Given the description of an element on the screen output the (x, y) to click on. 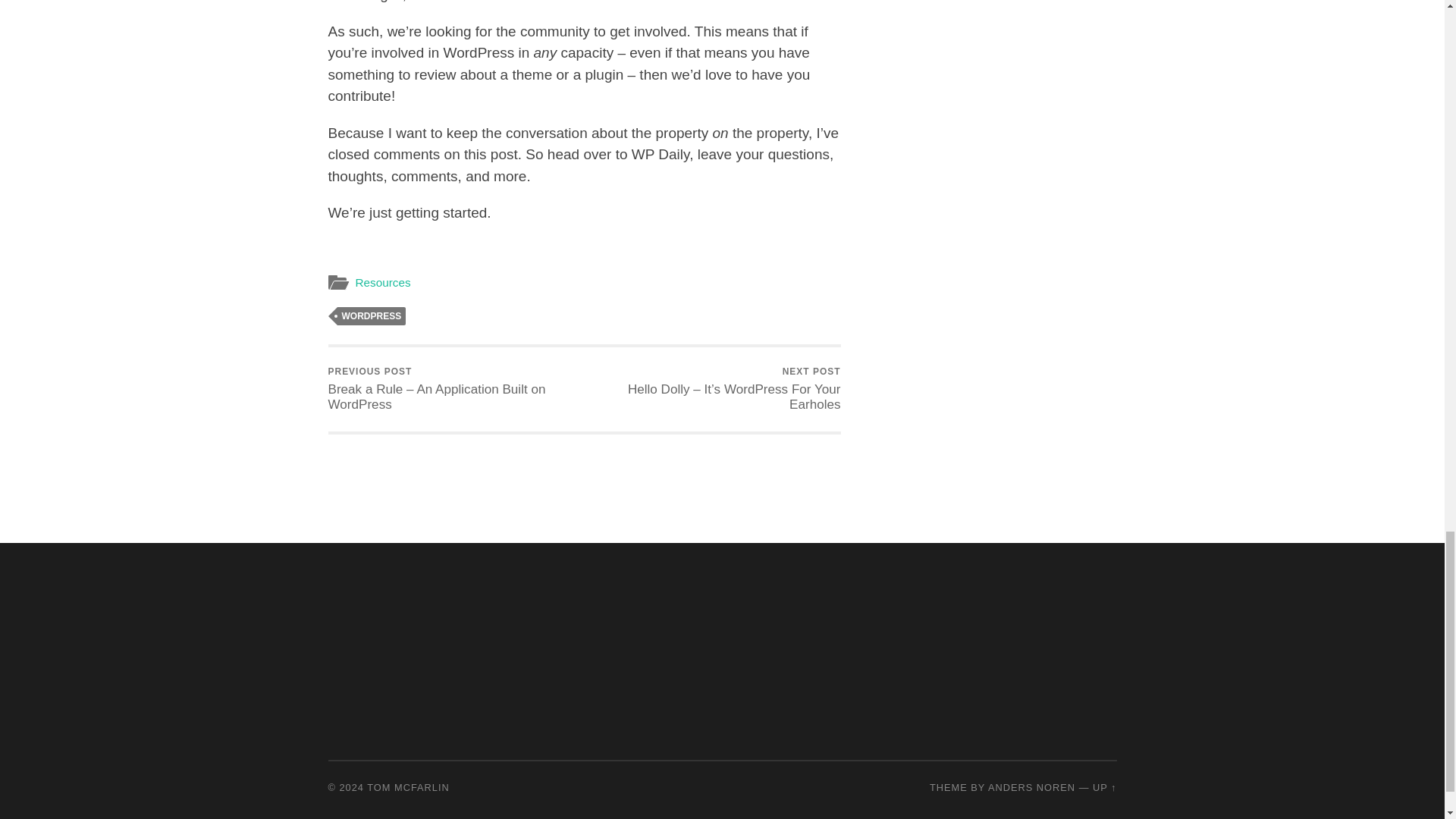
To the top (1104, 787)
Resources (382, 282)
WORDPRESS (371, 316)
